Given the description of an element on the screen output the (x, y) to click on. 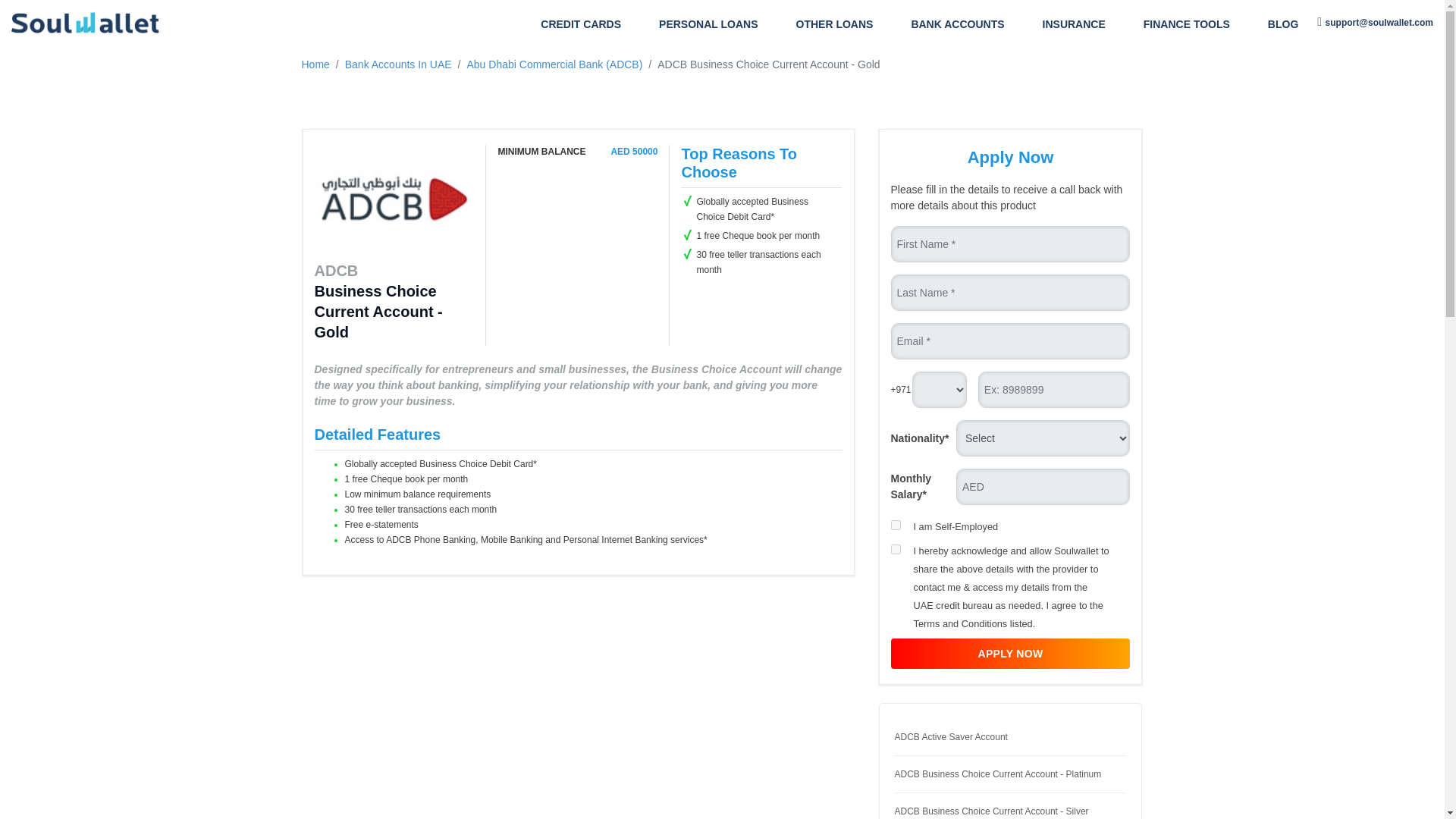
CREDIT CARDS (580, 24)
